Given the description of an element on the screen output the (x, y) to click on. 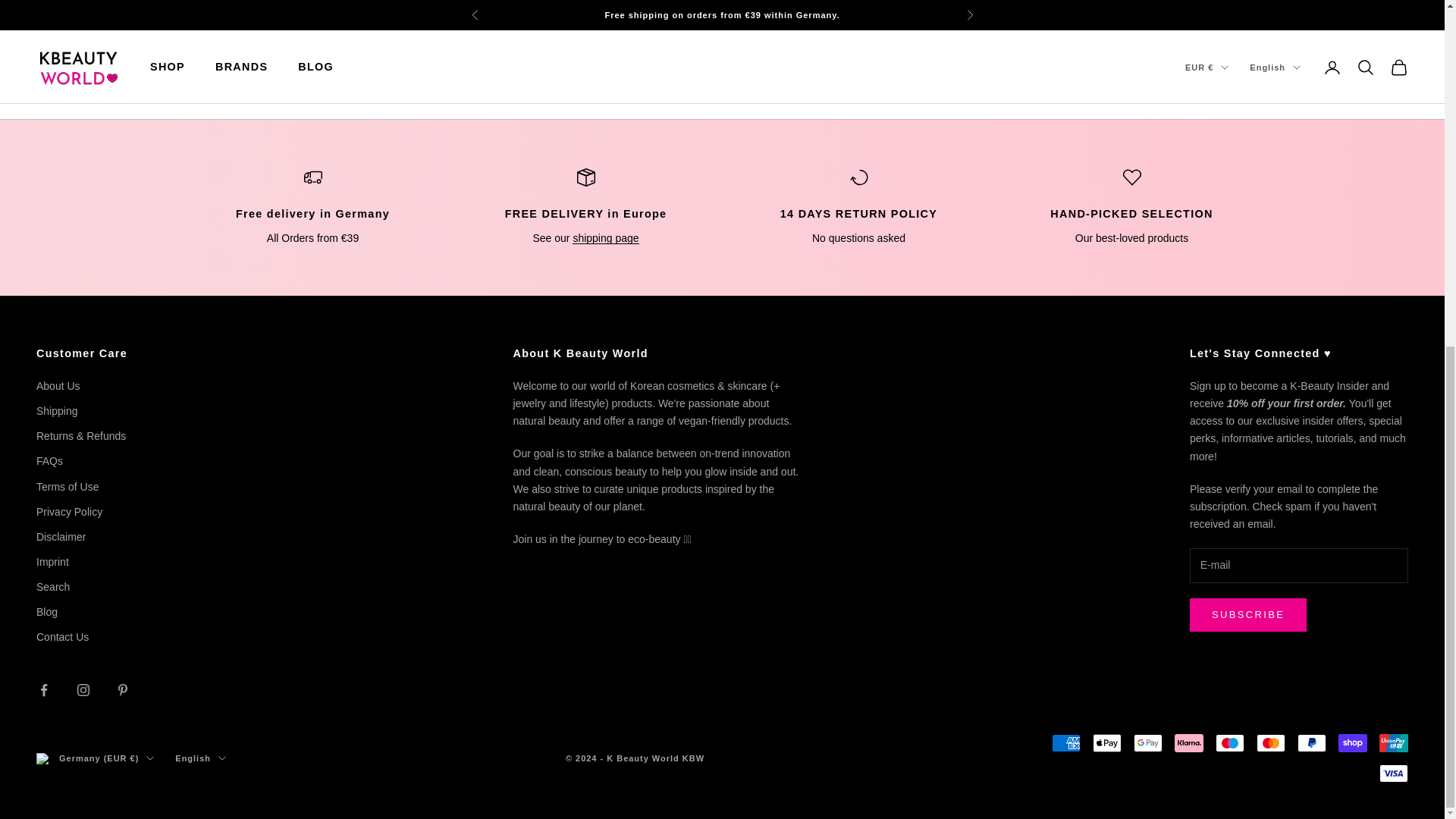
Shipping (605, 237)
